Given the description of an element on the screen output the (x, y) to click on. 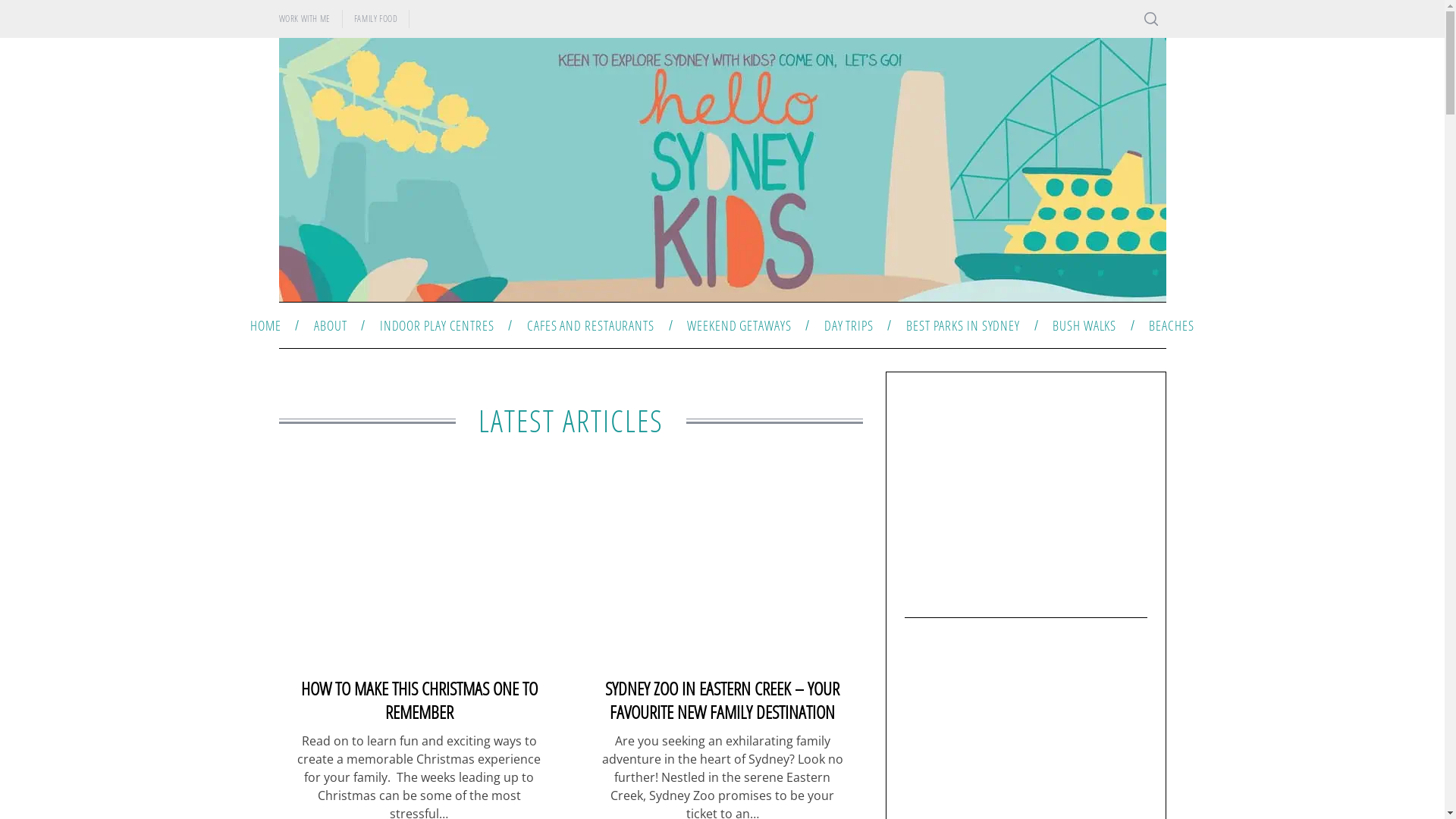
HOW TO MAKE THIS CHRISTMAS ONE TO REMEMBER Element type: text (418, 699)
BUSH WALKS Element type: text (1084, 325)
WEEKEND GETAWAYS Element type: text (739, 325)
FAMILY FOOD Element type: text (375, 18)
BEACHES Element type: text (1171, 325)
ABOUT Element type: text (330, 325)
HOME Element type: text (266, 325)
BEST PARKS IN SYDNEY Element type: text (962, 325)
DAY TRIPS Element type: text (848, 325)
How To Make This Christmas One To Remember Element type: hover (419, 571)
INDOOR PLAY CENTRES Element type: text (436, 325)
WORK WITH ME Element type: text (303, 18)
CAFES AND RESTAURANTS Element type: text (590, 325)
